Given the description of an element on the screen output the (x, y) to click on. 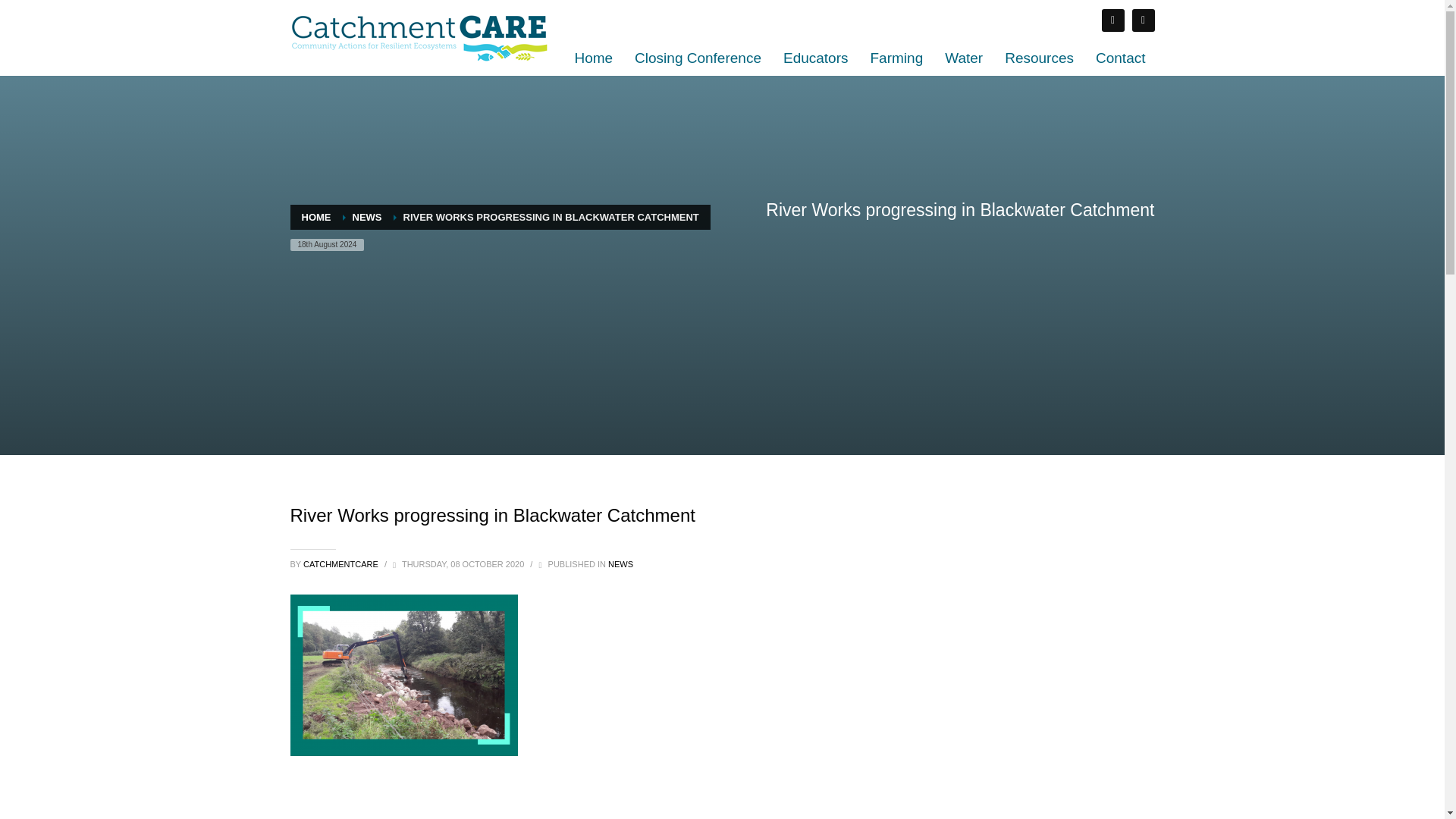
Educators (815, 57)
Contact (1120, 57)
fb (1112, 20)
Home (592, 57)
NEWS (366, 216)
NEWS (620, 563)
Closing Conference (698, 57)
Catchment Actions For Resilent Ecosystems (418, 37)
Resources (1039, 57)
HOME (316, 216)
